Given the description of an element on the screen output the (x, y) to click on. 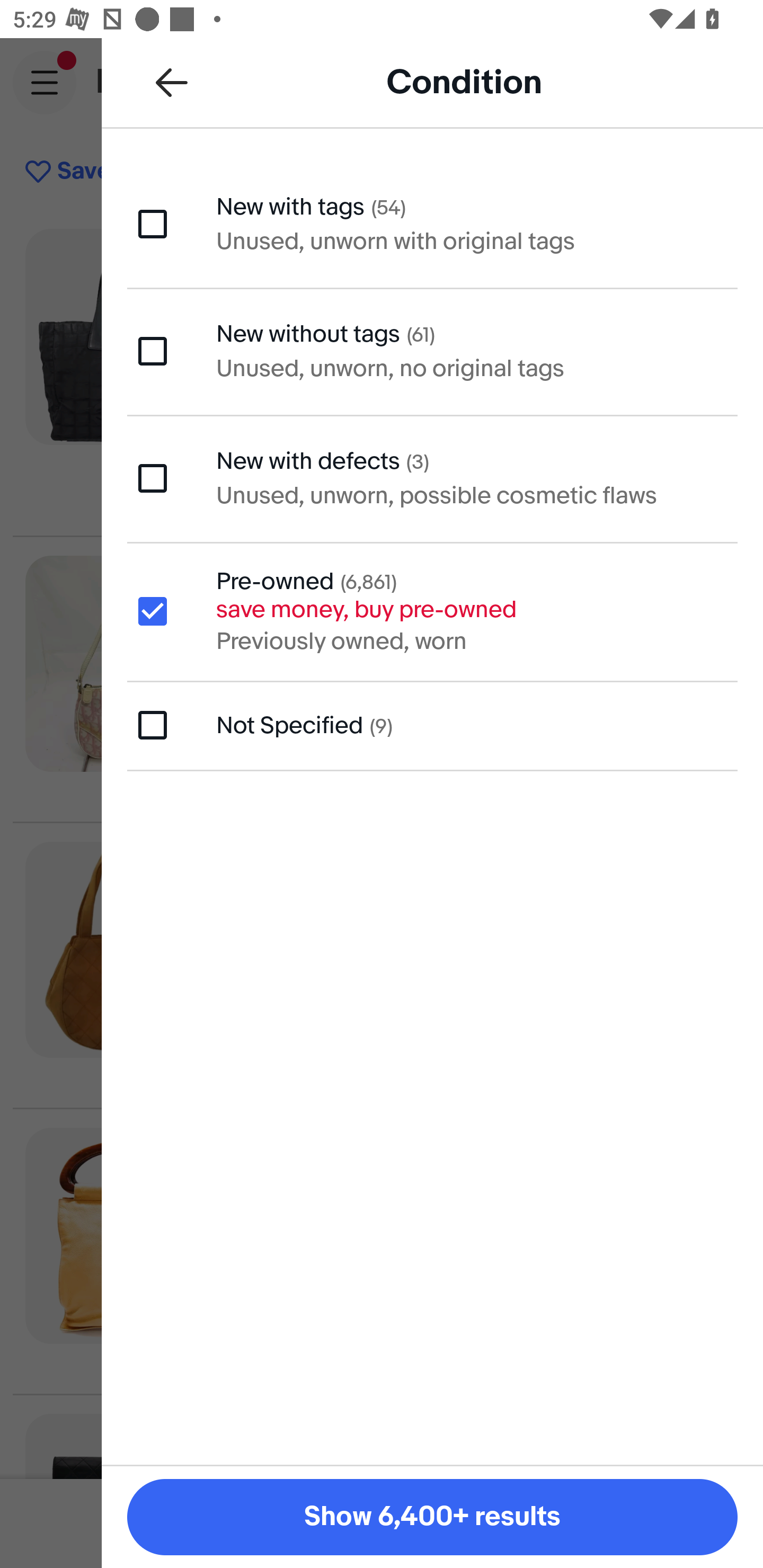
Back to all refinements (171, 81)
Not Specified (9) (432, 724)
Show 6,400+ results (432, 1516)
